Given the description of an element on the screen output the (x, y) to click on. 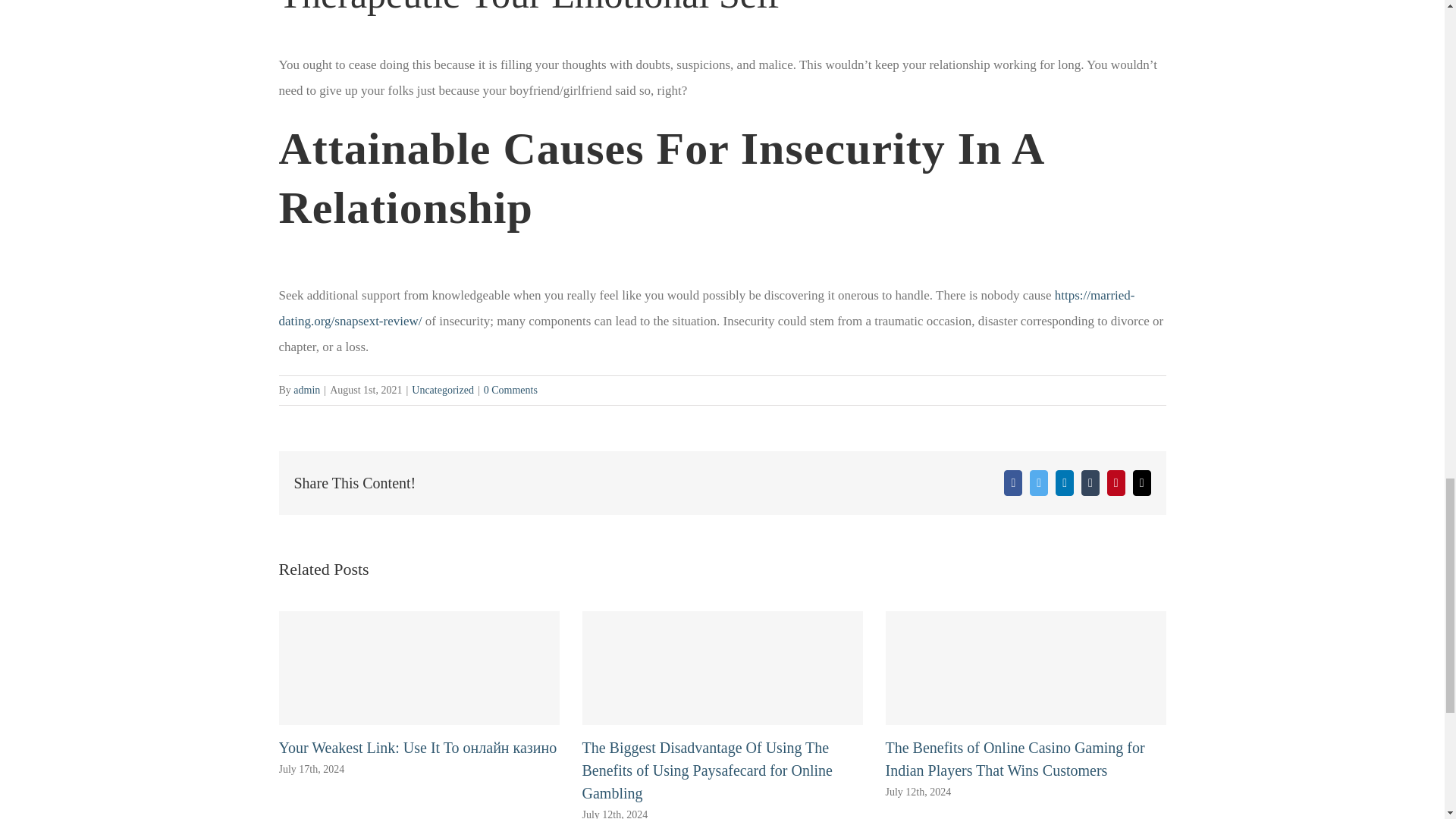
Uncategorized (443, 389)
Posts by admin (307, 389)
Facebook (1013, 483)
Pinterest (1115, 483)
admin (307, 389)
Tumblr (1090, 483)
LinkedIn (1064, 483)
0 Comments (510, 389)
Twitter (1038, 483)
Email (1141, 483)
